Given the description of an element on the screen output the (x, y) to click on. 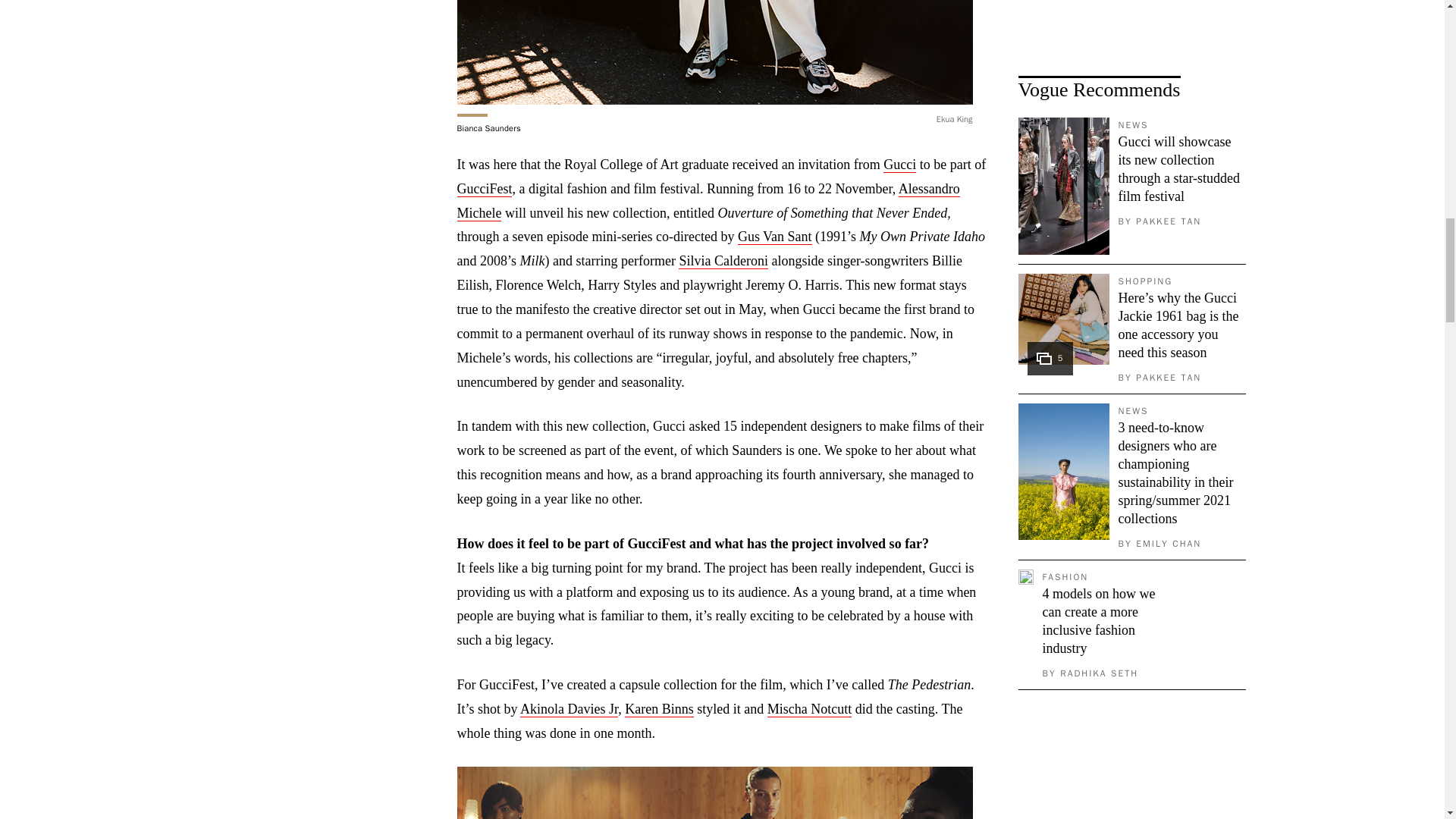
Alessandro Michele (708, 200)
Akinola Davies Jr (568, 709)
Gucci (899, 164)
Gus Van Sant (775, 236)
Karen Binns (658, 709)
Silvia Calderoni (722, 261)
GucciFest (484, 188)
